Given the description of an element on the screen output the (x, y) to click on. 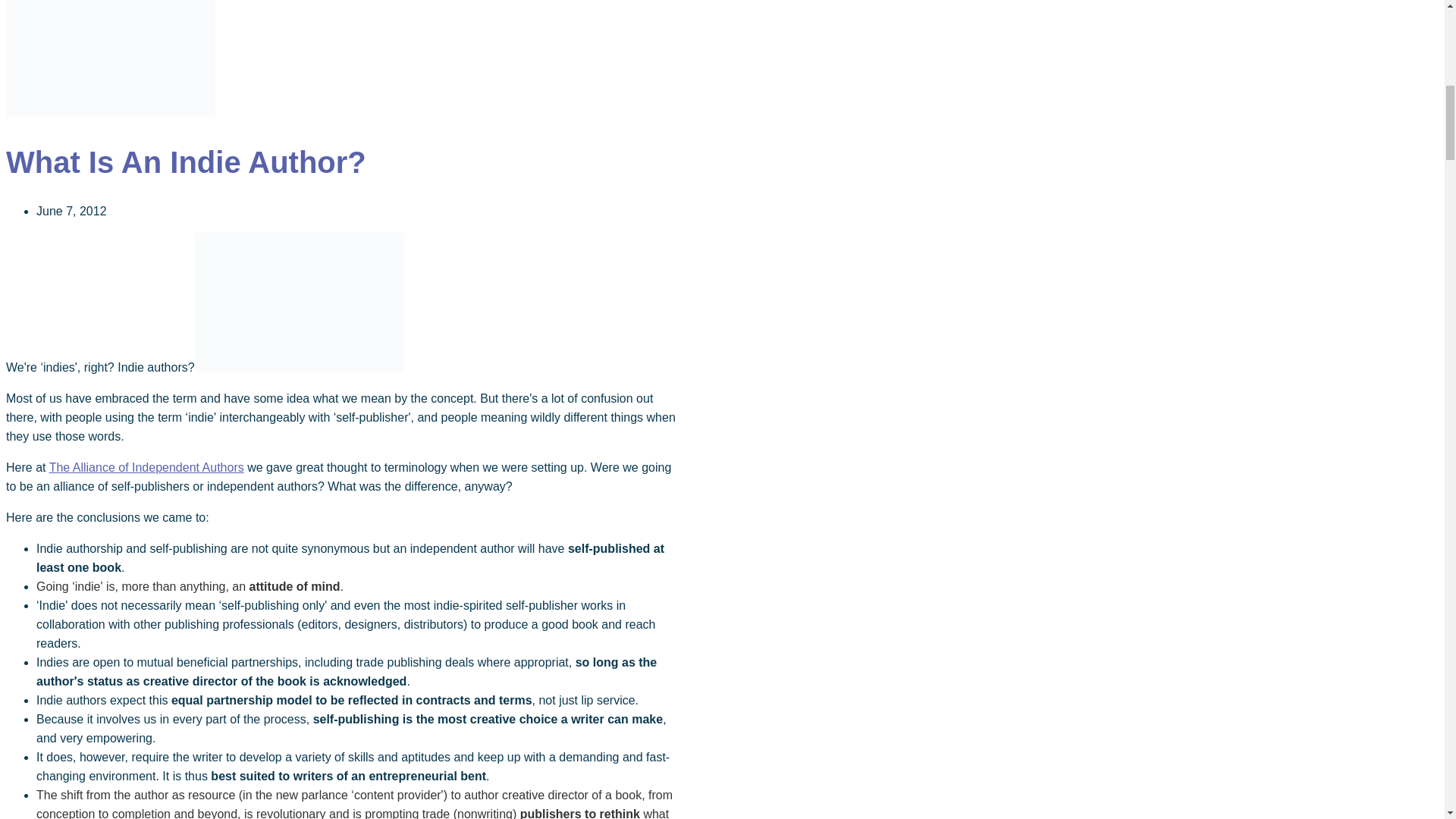
Definition of Independent Author (299, 301)
Enlarge Image (110, 112)
